Given the description of an element on the screen output the (x, y) to click on. 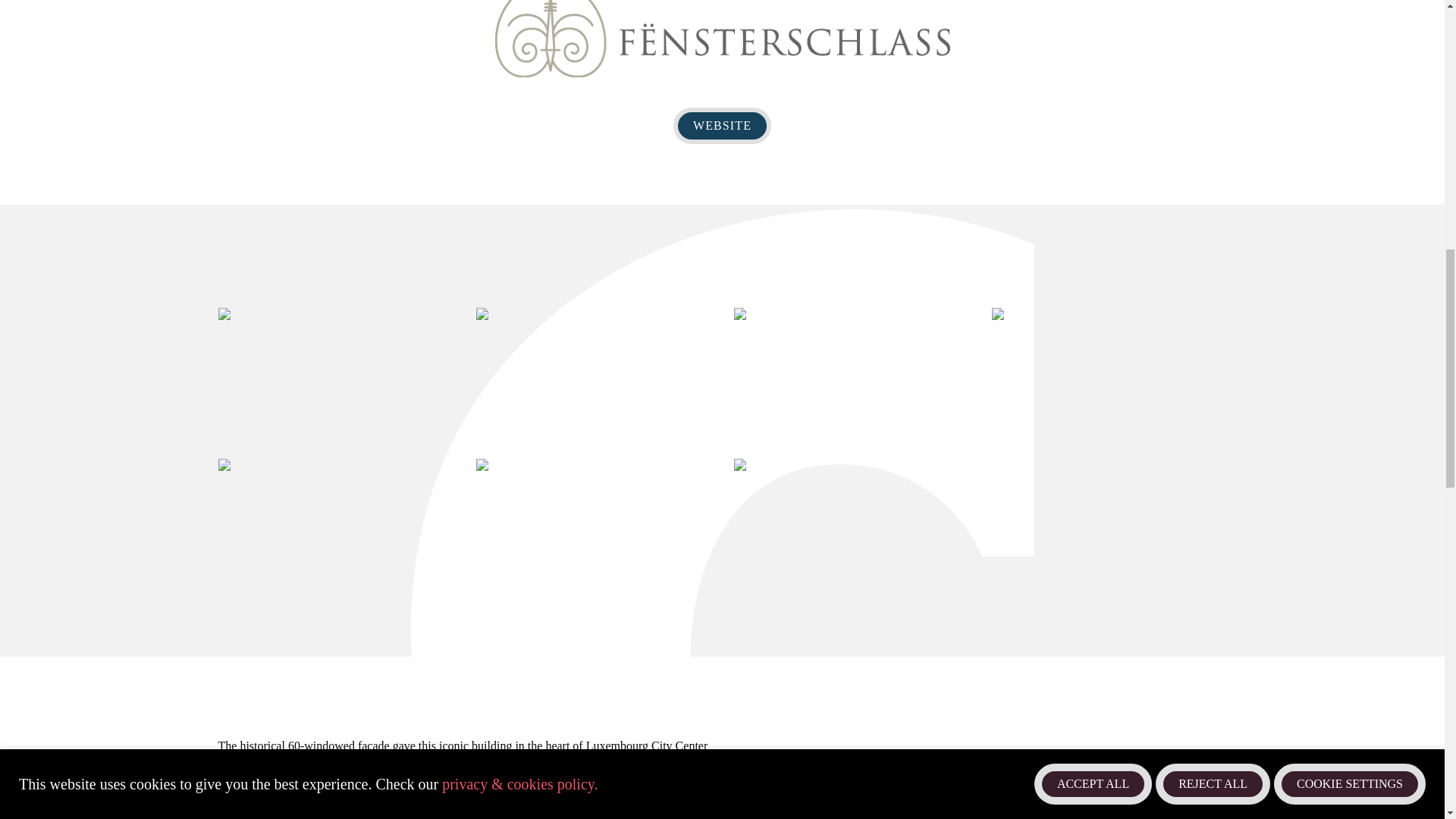
WEBSITE (721, 125)
